Given the description of an element on the screen output the (x, y) to click on. 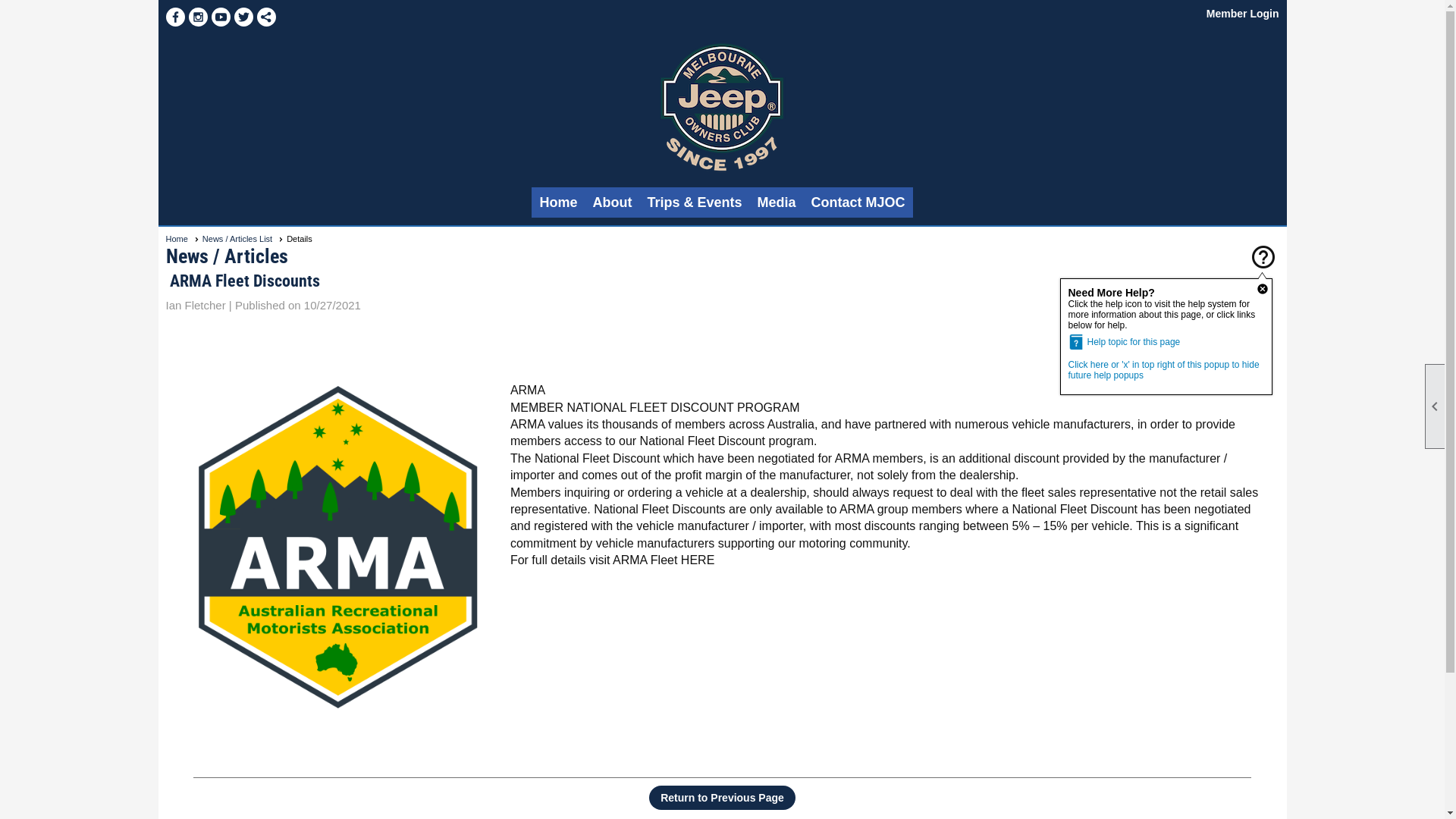
Click here for more sharing options Element type: hover (265, 16)
Visit us on Instagram Element type: hover (197, 16)
Return to Previous Page Element type: text (722, 797)
Contact MJOC Element type: text (858, 202)
Help topic for this page Element type: text (1165, 341)
Member Login Element type: text (1242, 13)
Home Element type: text (557, 202)
Home Element type: text (181, 238)
Visit us on Twitter Element type: hover (242, 16)
help_outline Element type: text (1263, 259)
Visit us on YouTube Element type: hover (219, 16)
News / Articles List Element type: text (242, 238)
Visit us on Facebook Element type: hover (174, 16)
